Given the description of an element on the screen output the (x, y) to click on. 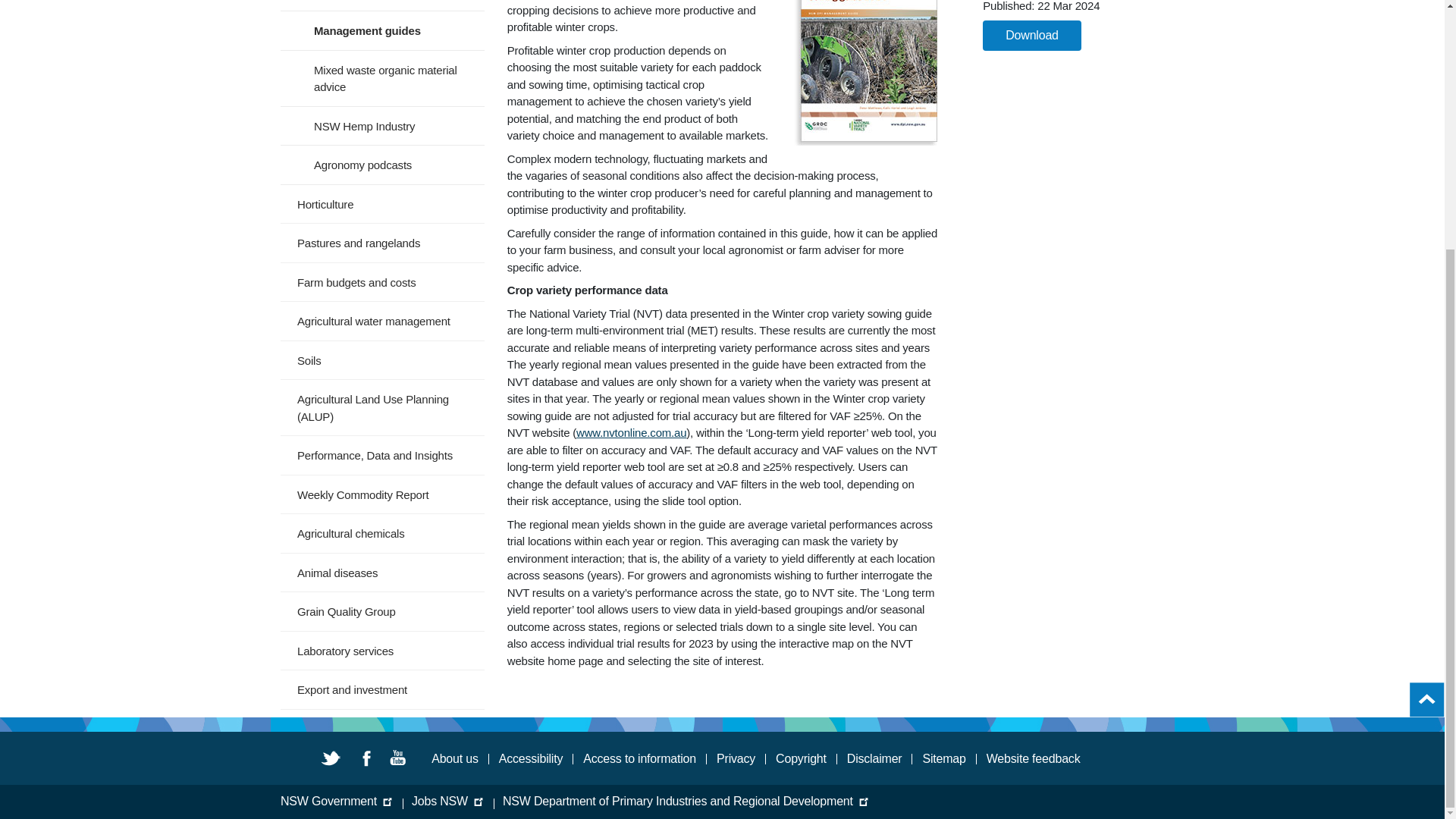
Redirects to external website (874, 759)
Redirects to external website (630, 431)
Redirects to external website (735, 759)
Redirects to external website (695, 799)
Redirects to external website (531, 759)
Redirects to external website (346, 799)
Redirects to external website (639, 759)
Redirects to external website (457, 799)
Redirects to external website (801, 759)
